Given the description of an element on the screen output the (x, y) to click on. 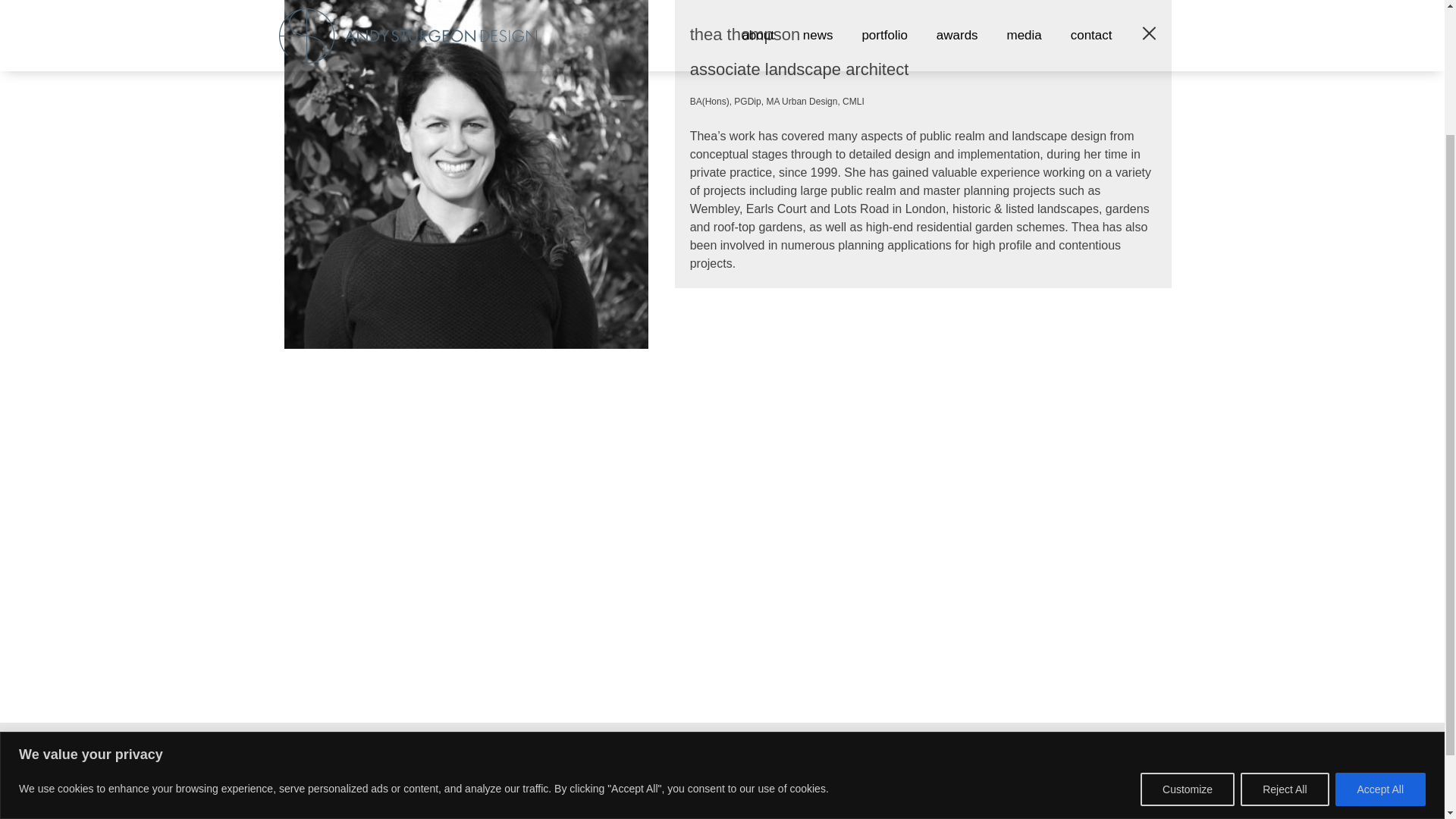
Accept All (1380, 623)
Reject All (1283, 623)
Follow us on Instagram (1091, 765)
Customize (1187, 623)
Pin us on Pinterest (1123, 765)
